Given the description of an element on the screen output the (x, y) to click on. 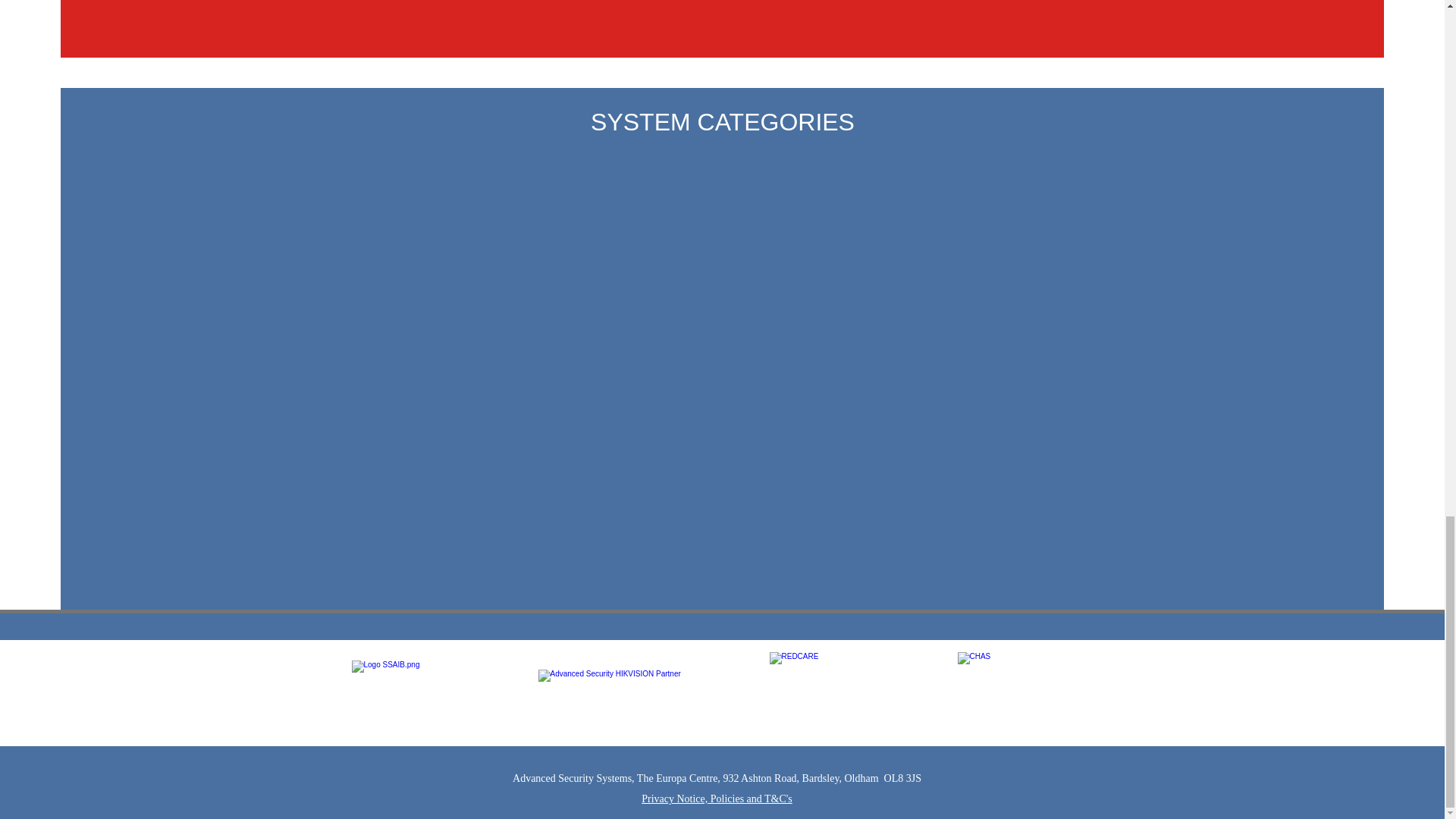
SSAIB Intruder Alarm Systems (412, 692)
BT Redcare approved alarm installer (845, 687)
construction health and safety accreditation (1025, 695)
Hikvision CCTV Silver Partner (646, 695)
